Given the description of an element on the screen output the (x, y) to click on. 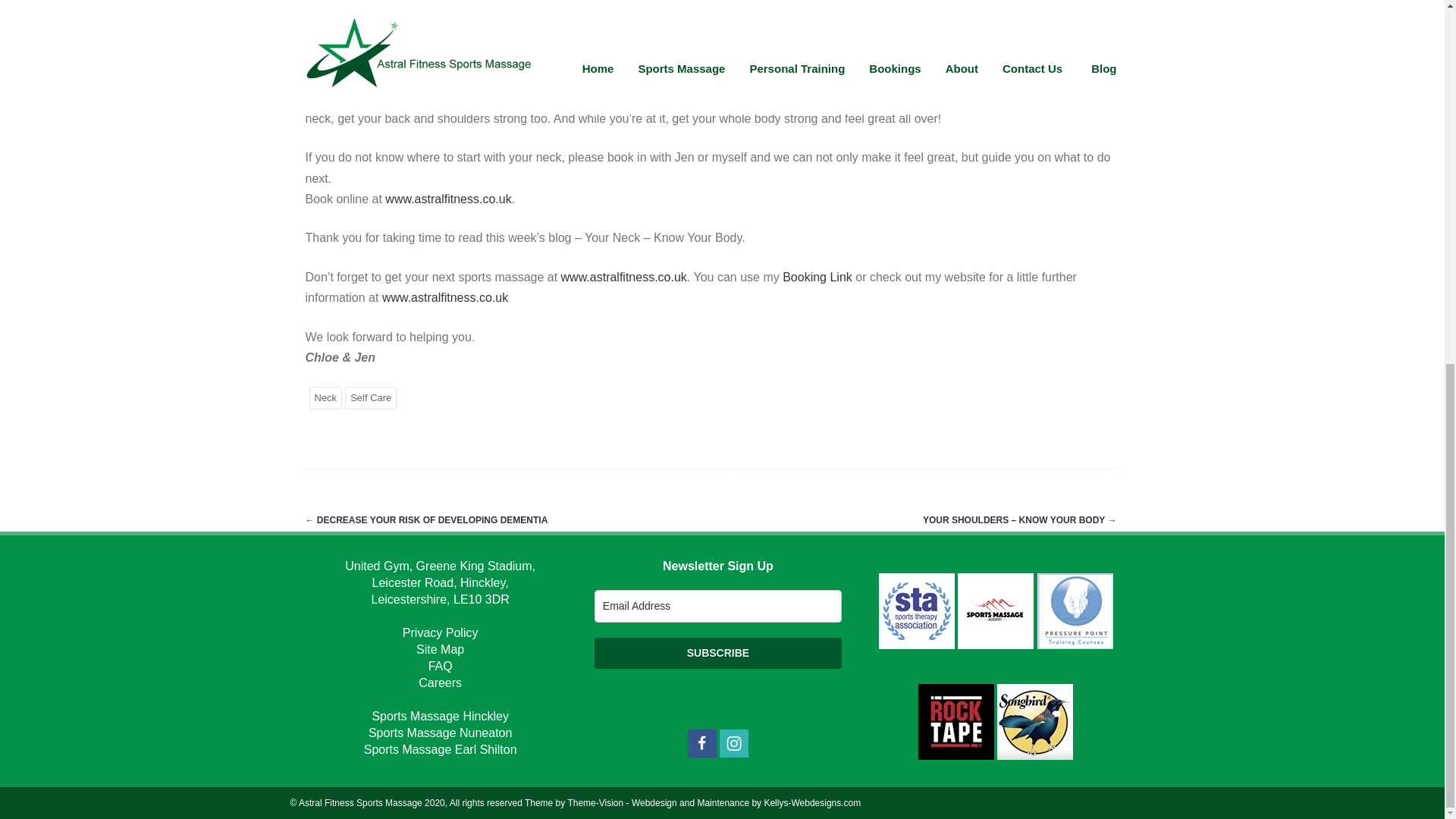
Self Care (370, 397)
www.astralfitness.co.uk (448, 198)
Booking Link (817, 277)
www.astralfitness.co.uk (623, 277)
www.astralfitness.co.uk (444, 297)
Neck (325, 397)
